Given the description of an element on the screen output the (x, y) to click on. 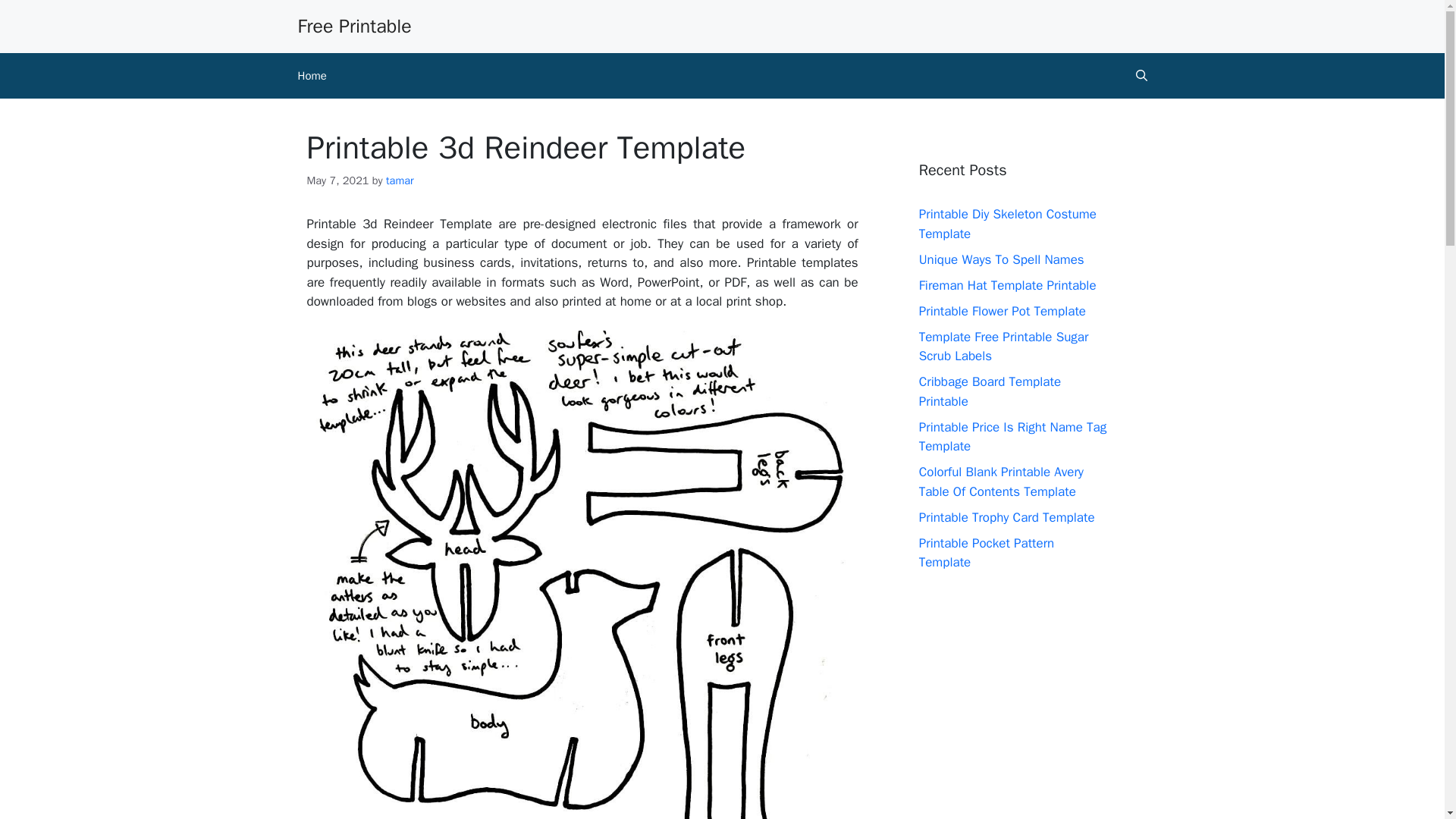
Printable Flower Pot Template (1002, 311)
Home (311, 75)
Printable Diy Skeleton Costume Template (1007, 223)
Printable Pocket Pattern Template (986, 552)
Unique Ways To Spell Names (1001, 259)
View all posts by tamar (399, 180)
Cribbage Board Template Printable (989, 391)
Printable Trophy Card Template (1006, 517)
Colorful Blank Printable Avery Table Of Contents Template (1000, 481)
Template Free Printable Sugar Scrub Labels (1003, 346)
